Given the description of an element on the screen output the (x, y) to click on. 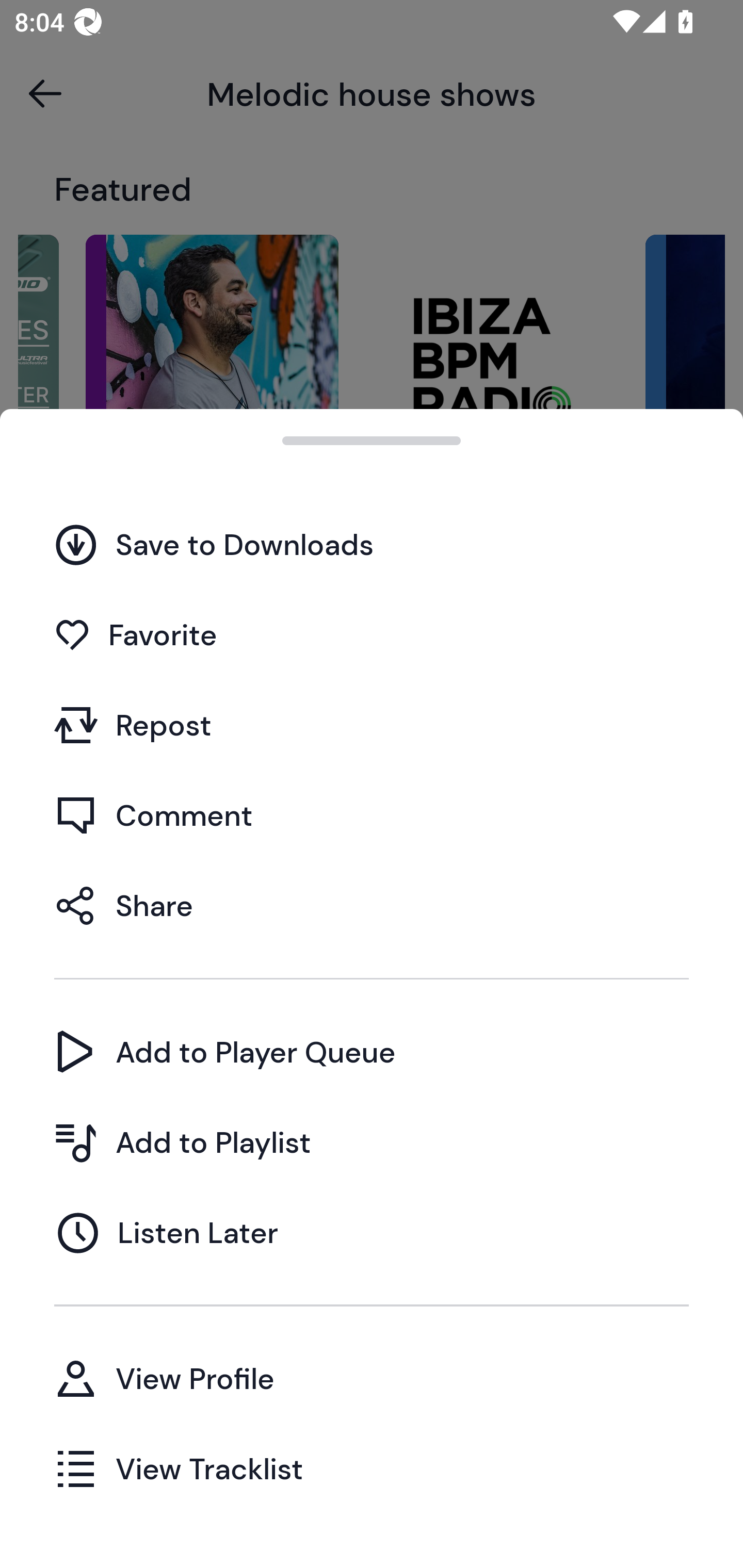
Save to Downloads (371, 543)
Favorite (371, 634)
Repost (371, 724)
Comment (371, 814)
Share (371, 905)
Add to Player Queue (371, 1051)
Add to Playlist (371, 1141)
Listen Later (371, 1231)
View Profile (371, 1377)
View Tracklist (371, 1468)
